Given the description of an element on the screen output the (x, y) to click on. 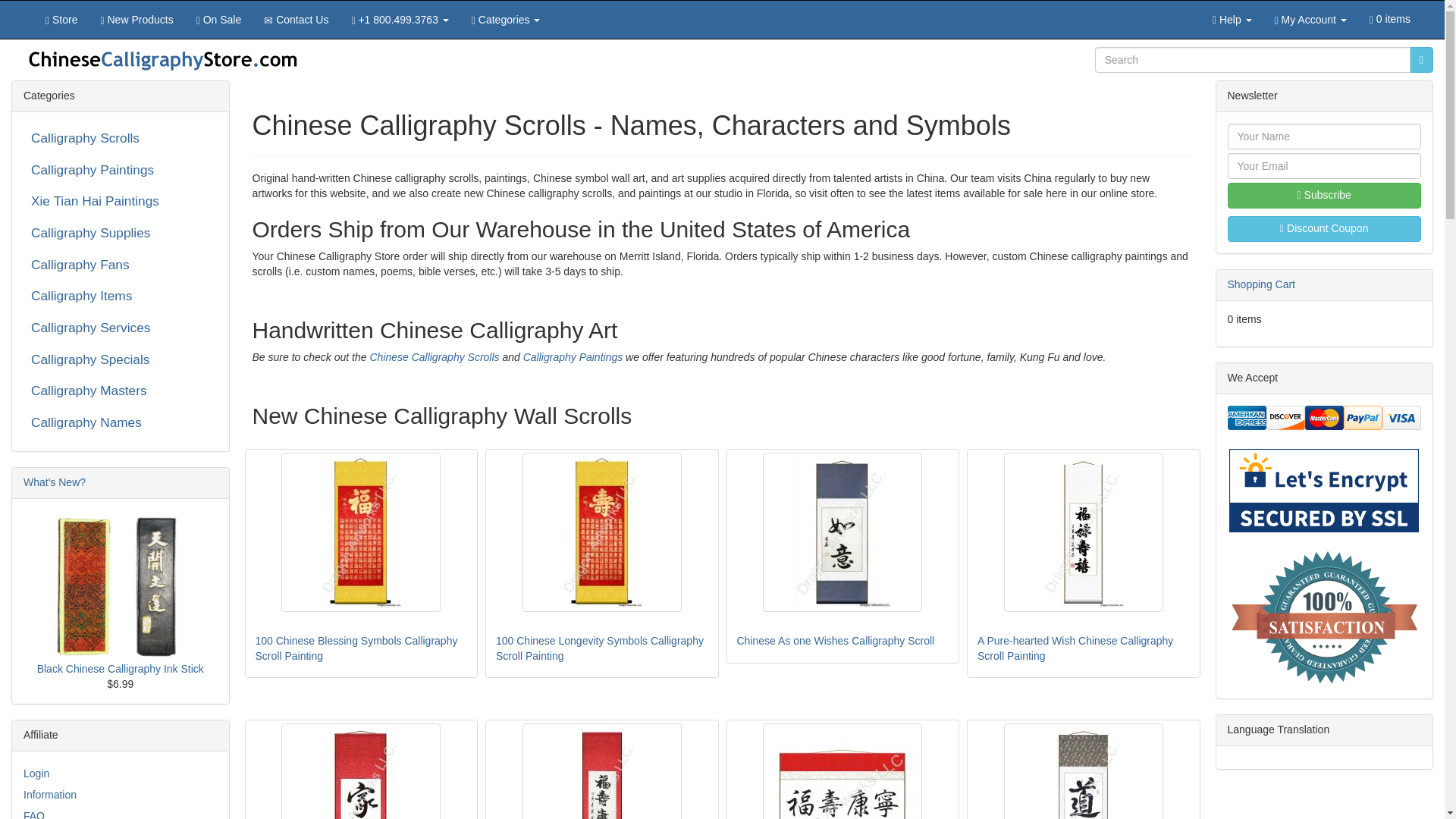
A Pure-hearted Wish Chinese Calligraphy Scroll Painting (1083, 531)
New Products (136, 19)
Auspicious Blessings Chinese Calligraphy Scroll (841, 771)
Categories (505, 19)
Chinese Calligraphy Scroll Painting of Family (361, 771)
Contact Us (295, 19)
100 Chinese Longevity Symbols Calligraphy Scroll Painting (601, 531)
Chinese As one Wishes Calligraphy Scroll (841, 531)
Store (60, 19)
Chinese Character for Tao Calligraphy Scroll Painting (1083, 771)
100 Chinese Blessing Symbols Calligraphy Scroll Painting (361, 531)
Chinese Calligraphy Store (162, 57)
On Sale (218, 19)
